Given the description of an element on the screen output the (x, y) to click on. 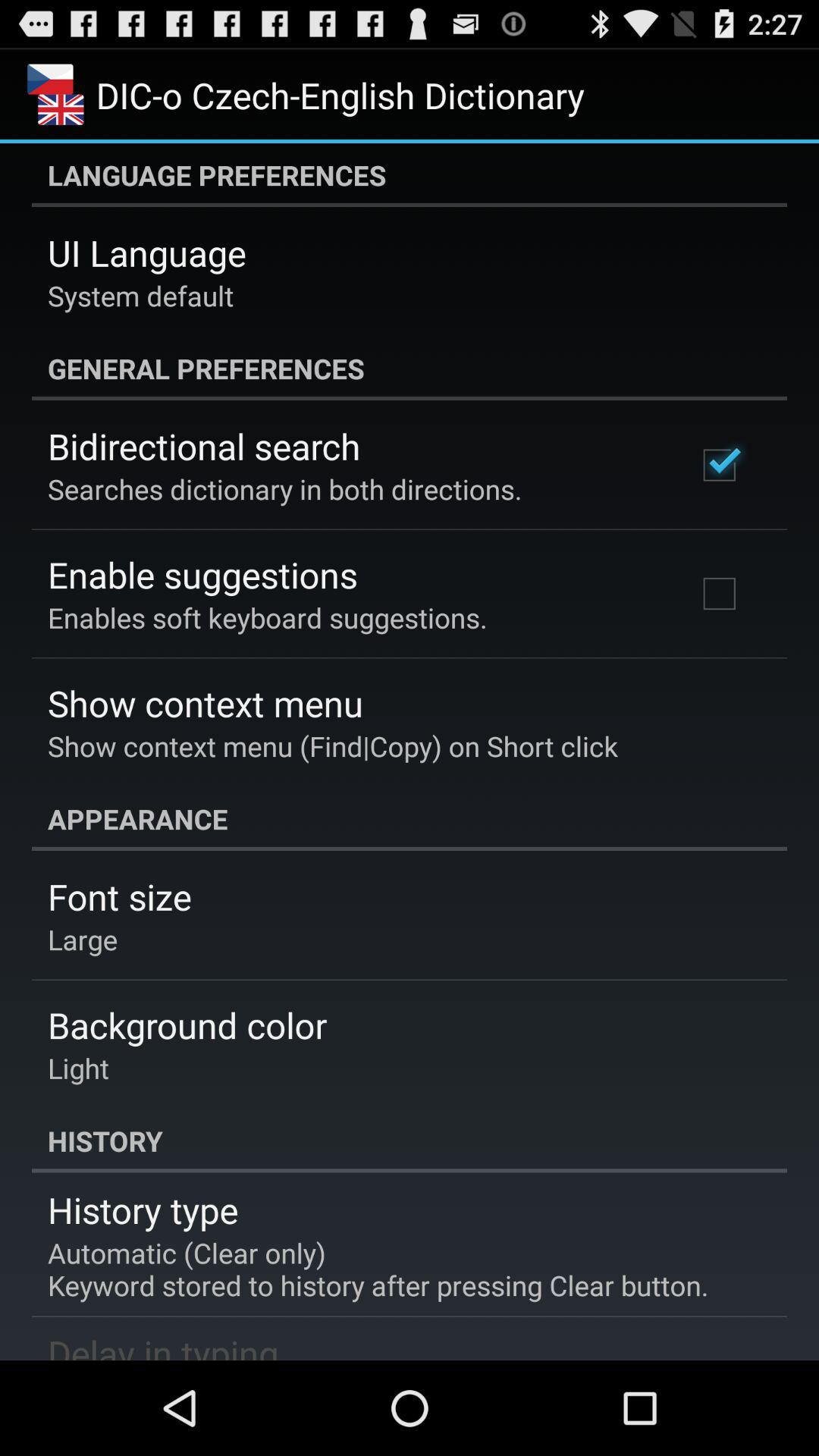
scroll to automatic clear only item (377, 1269)
